Given the description of an element on the screen output the (x, y) to click on. 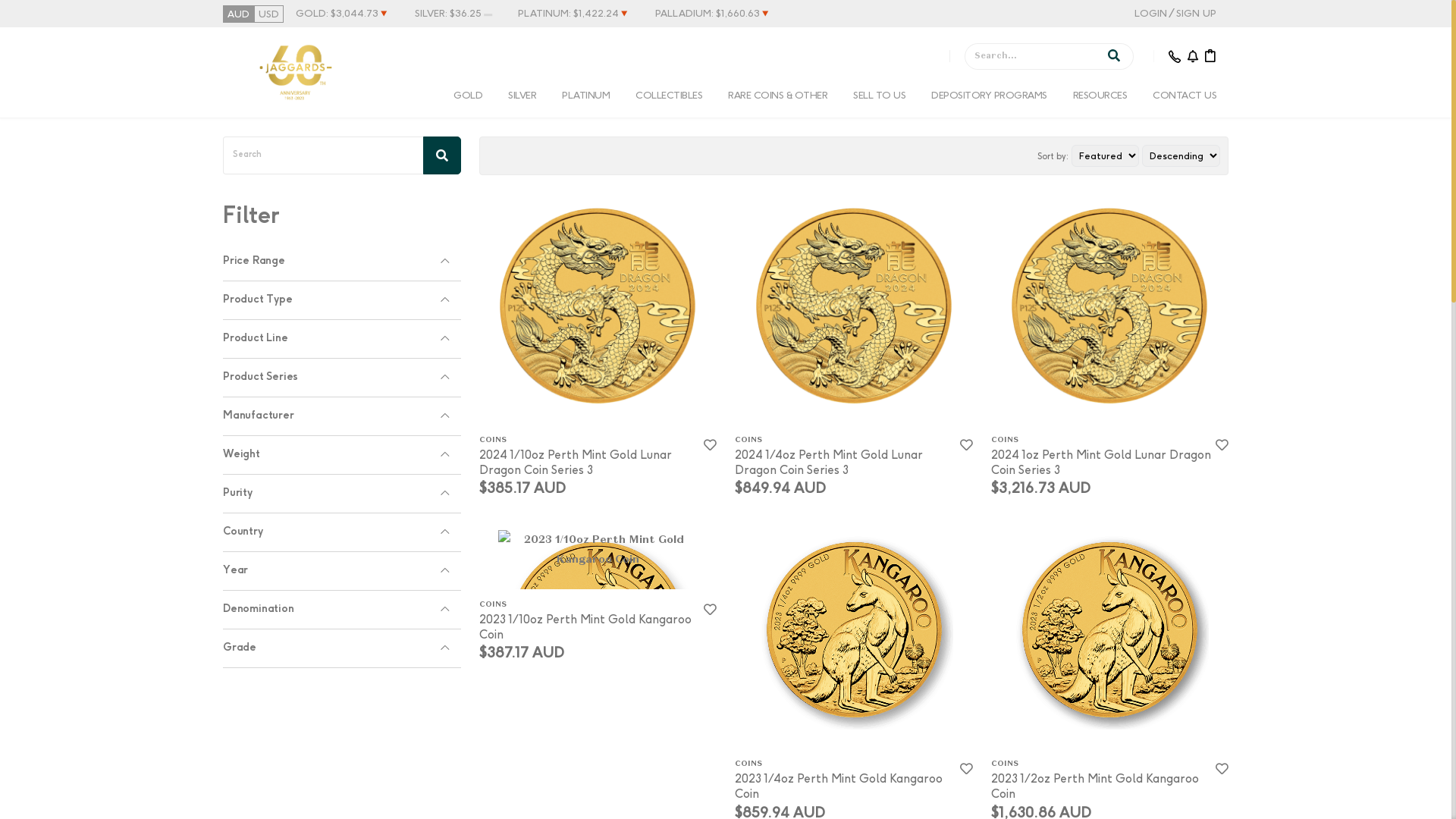
RARE COINS & OTHER Element type: text (777, 95)
COINS Element type: text (847, 764)
PALLADIUM: $1,660.63 Element type: text (707, 12)
Price Range Element type: text (341, 261)
Denomination Element type: text (341, 609)
PLATINUM: $1,422.24 Element type: text (567, 12)
2024 1oz Perth Mint Gold Lunar Dragon Coin Series 3 Element type: text (1100, 461)
COINS Element type: text (1102, 764)
Manufacturer Element type: text (341, 416)
COINS Element type: text (591, 440)
Product Type Element type: text (341, 300)
LOGIN Element type: text (1150, 12)
COINS Element type: text (847, 440)
2024 1/10oz Perth Mint Gold Lunar Dragon Coin Series 3 Element type: text (575, 461)
Purity Element type: text (341, 493)
CONTACT US Element type: text (1184, 95)
SILVER Element type: text (521, 95)
RESOURCES Element type: text (1099, 95)
Product Line Element type: text (341, 339)
Country Element type: text (341, 532)
2023 1/4oz Perth Mint Gold Kangaroo Coin Element type: text (838, 785)
GOLD: $3,044.73 Element type: text (336, 12)
Weight Element type: text (341, 455)
SILVER: $36.25 Element type: text (447, 12)
GOLD Element type: text (467, 95)
Year Element type: text (341, 571)
SELL TO US Element type: text (878, 95)
COINS Element type: text (1102, 440)
2023 1/2oz Perth Mint Gold Kangaroo Coin Element type: text (1094, 785)
2024 1/4oz Perth Mint Gold Lunar Dragon Coin Series 3 Element type: text (828, 461)
DEPOSITORY PROGRAMS Element type: text (989, 95)
PLATINUM Element type: text (585, 95)
COINS Element type: text (591, 604)
COLLECTIBLES Element type: text (668, 95)
Product Series Element type: text (341, 377)
Grade Element type: text (341, 648)
SIGN UP Element type: text (1196, 12)
2023 1/10oz Perth Mint Gold Kangaroo Coin Element type: text (585, 626)
